Given the description of an element on the screen output the (x, y) to click on. 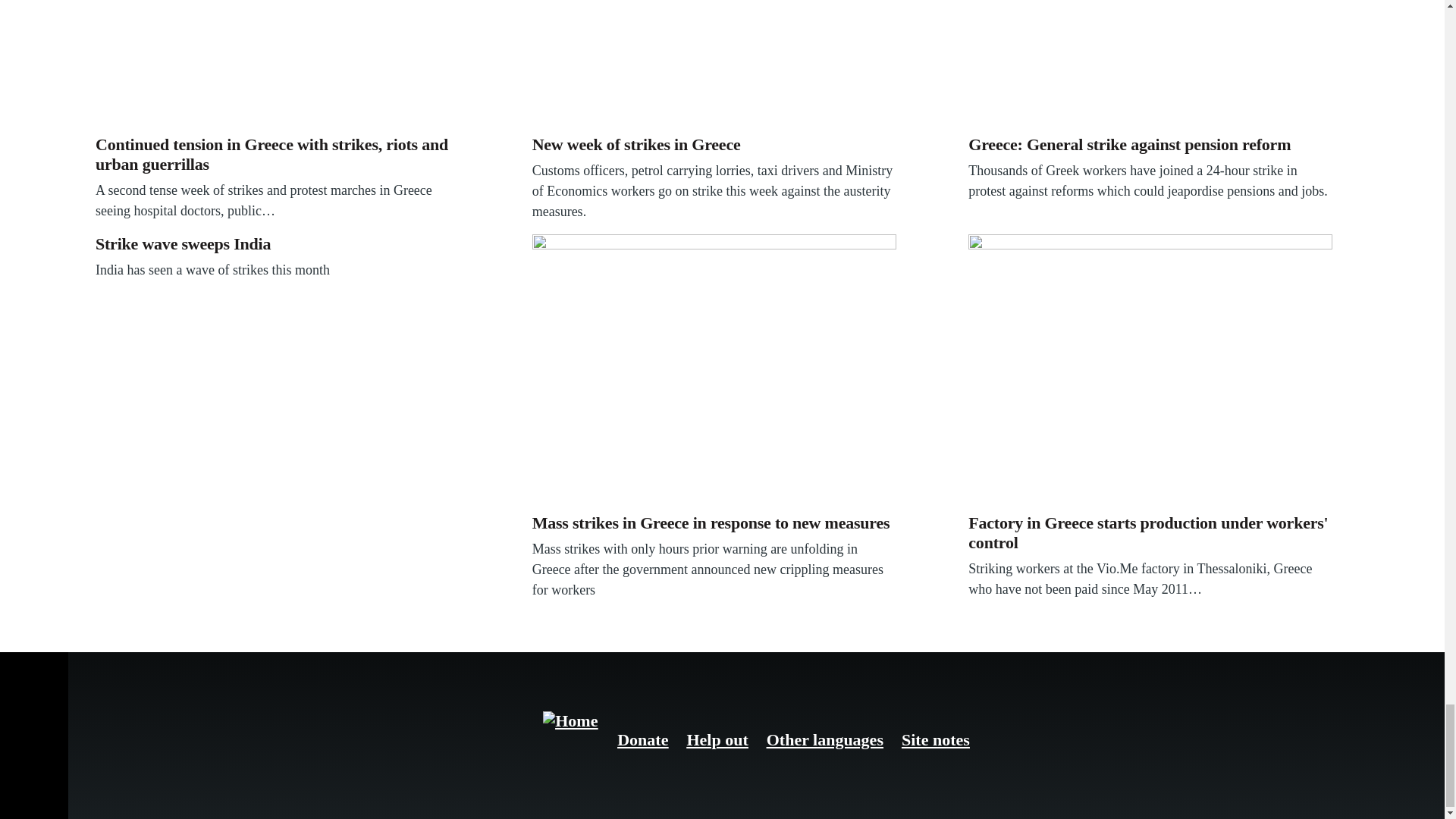
Vio.Me workers (1150, 370)
Striking civil servants march (714, 64)
libcom content in languages other than English (825, 739)
